Given the description of an element on the screen output the (x, y) to click on. 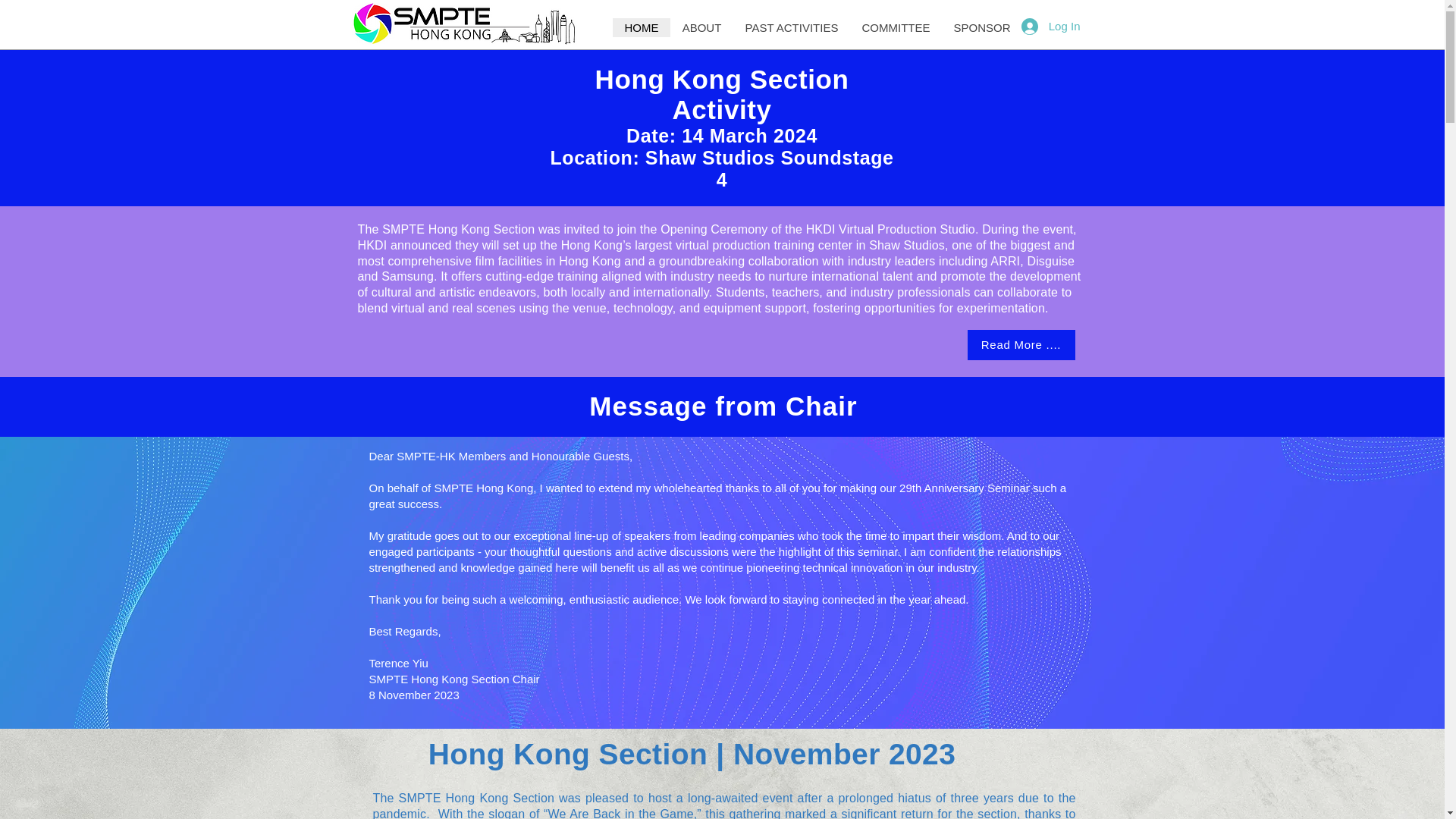
COMMITTEE (894, 27)
ABOUT (701, 27)
SPONSOR (982, 27)
Log In (1050, 26)
PAST ACTIVITIES (790, 27)
HOME (640, 27)
Read More .... (1021, 345)
